Given the description of an element on the screen output the (x, y) to click on. 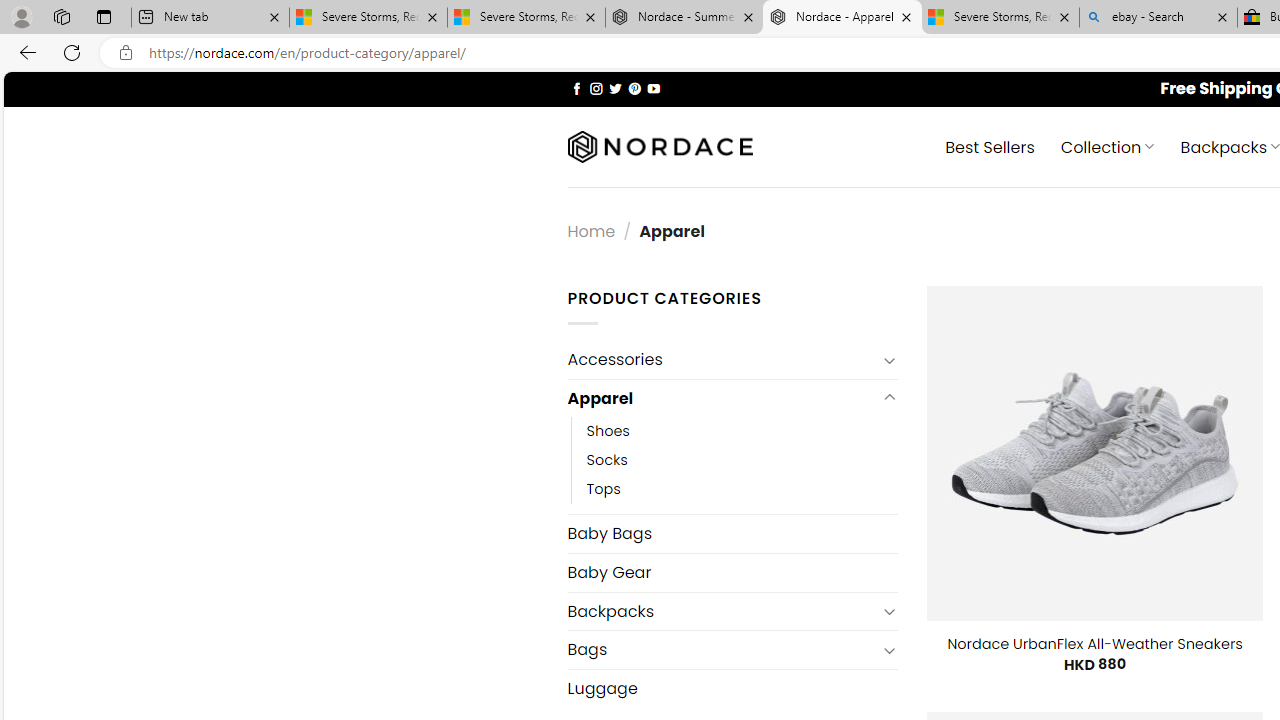
Shoes (607, 431)
Accessories (721, 359)
Luggage (732, 687)
Backpacks (721, 610)
Baby Bags (732, 533)
Socks (742, 460)
Baby Gear (732, 571)
Socks (607, 460)
Tops (603, 489)
Baby Gear (732, 571)
